Given the description of an element on the screen output the (x, y) to click on. 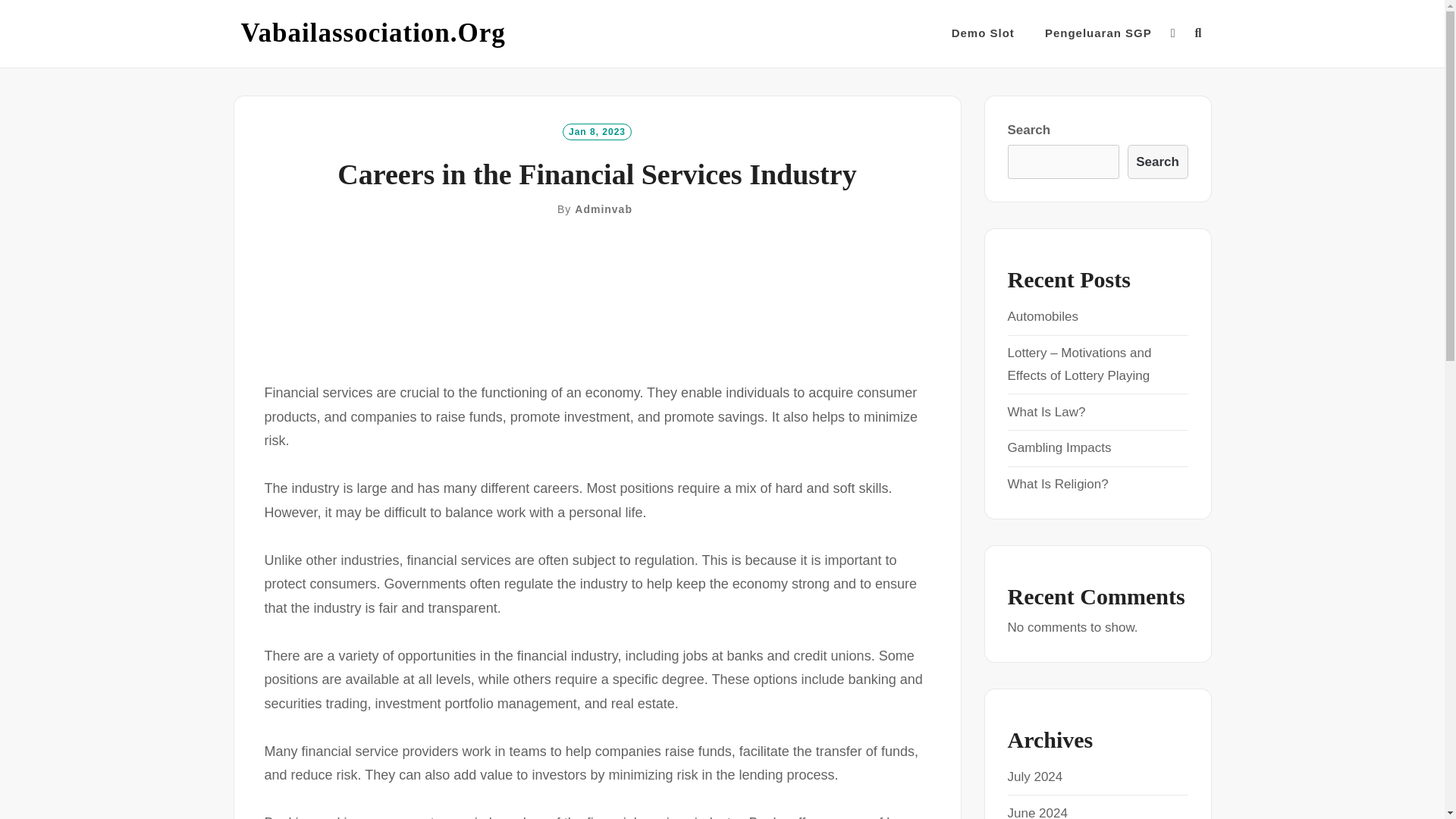
Search (1157, 161)
What Is Religion? (1057, 483)
What Is Law? (1045, 411)
Demo Slot (983, 33)
June 2024 (1037, 812)
Gambling Impacts (1058, 447)
Pengeluaran SGP (1098, 33)
Vabailassociation.Org (373, 33)
July 2024 (1034, 776)
Automobiles (1042, 316)
Adminvab (603, 209)
Jan 8, 2023 (596, 130)
